Given the description of an element on the screen output the (x, y) to click on. 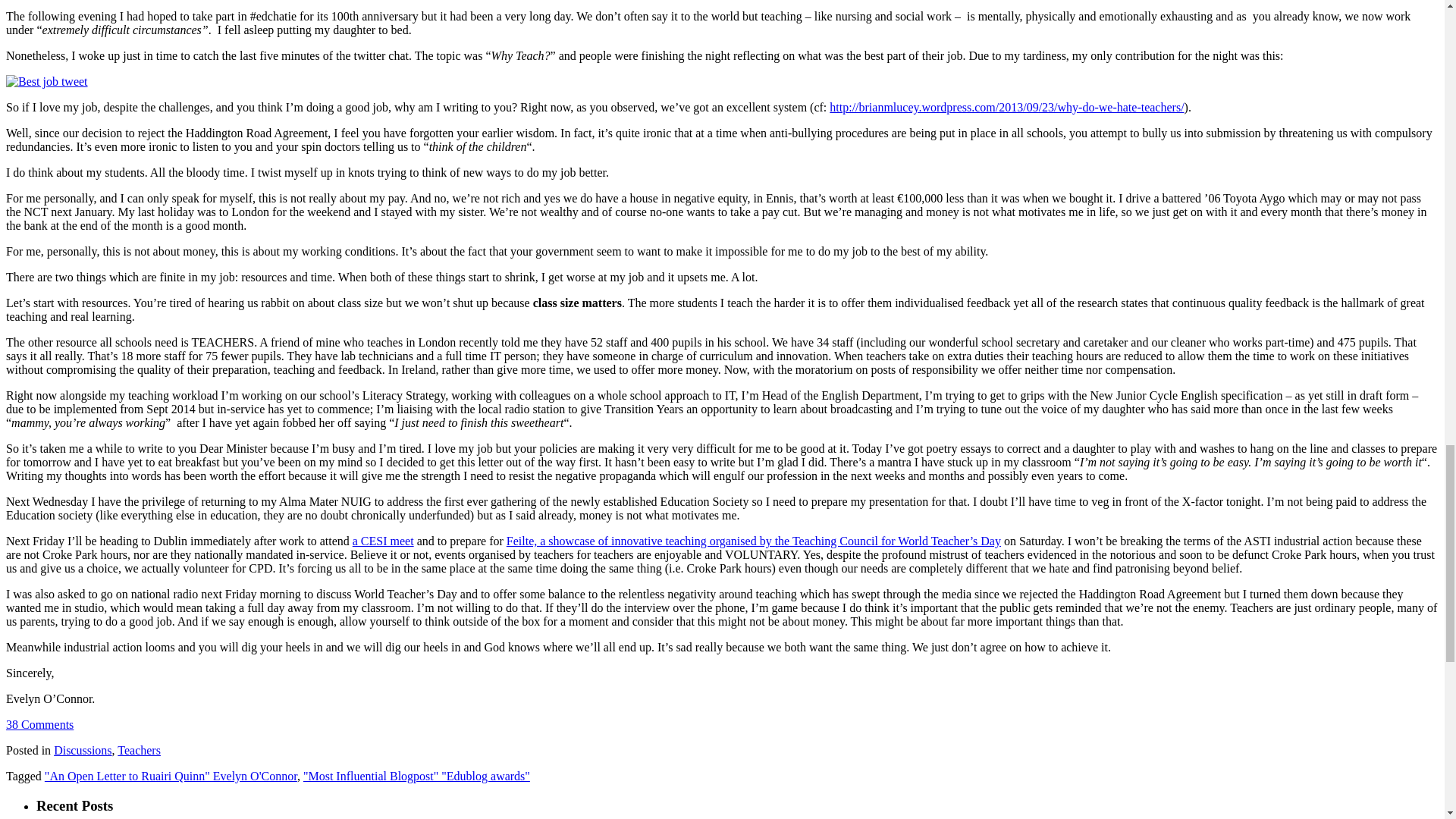
a CESI meet (382, 540)
CESI (382, 540)
Why do we hate teachers blog (1006, 106)
Feilte (753, 540)
